Given the description of an element on the screen output the (x, y) to click on. 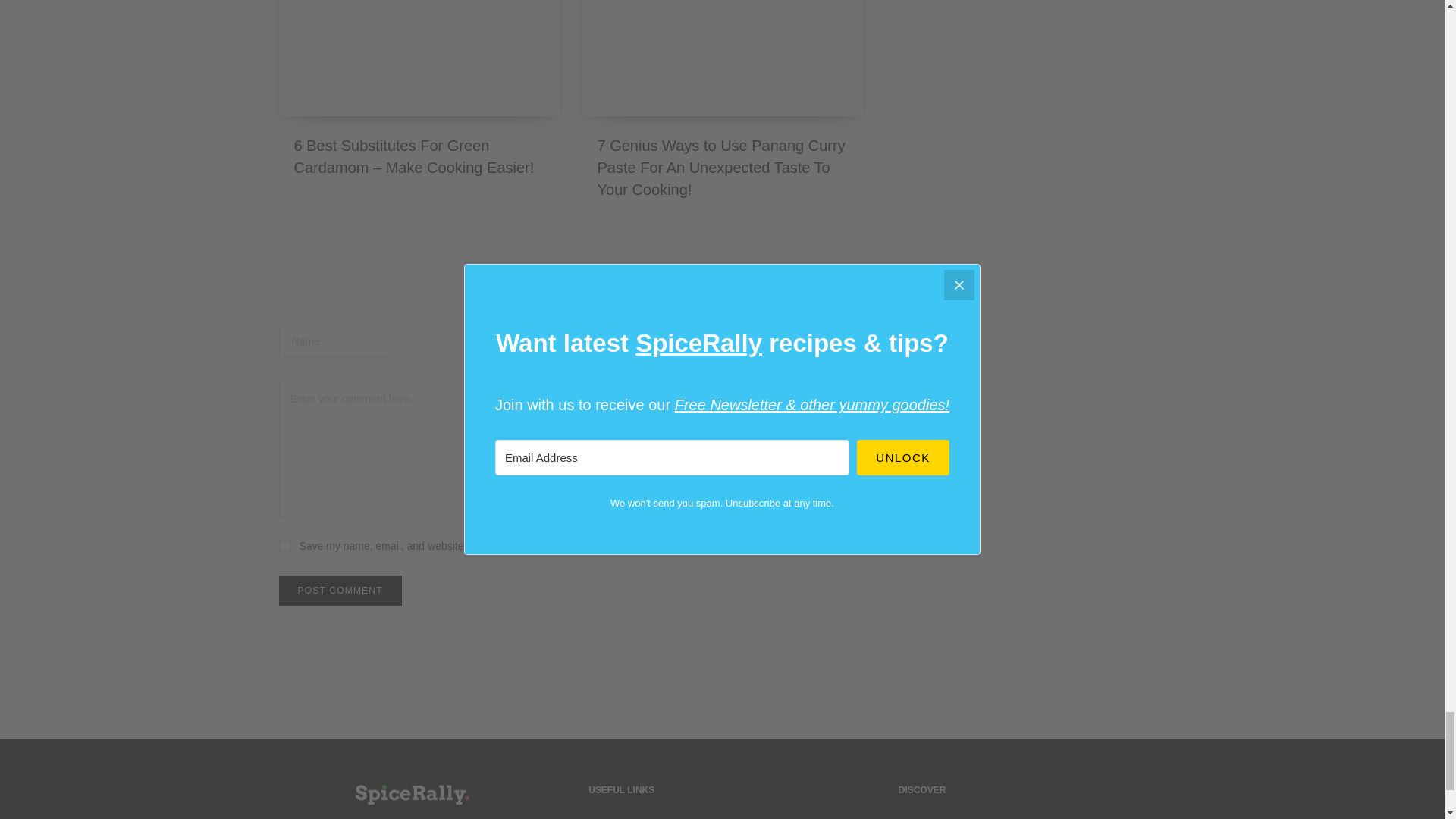
Post Comment (340, 590)
Post Comment (340, 590)
yes (285, 545)
